Given the description of an element on the screen output the (x, y) to click on. 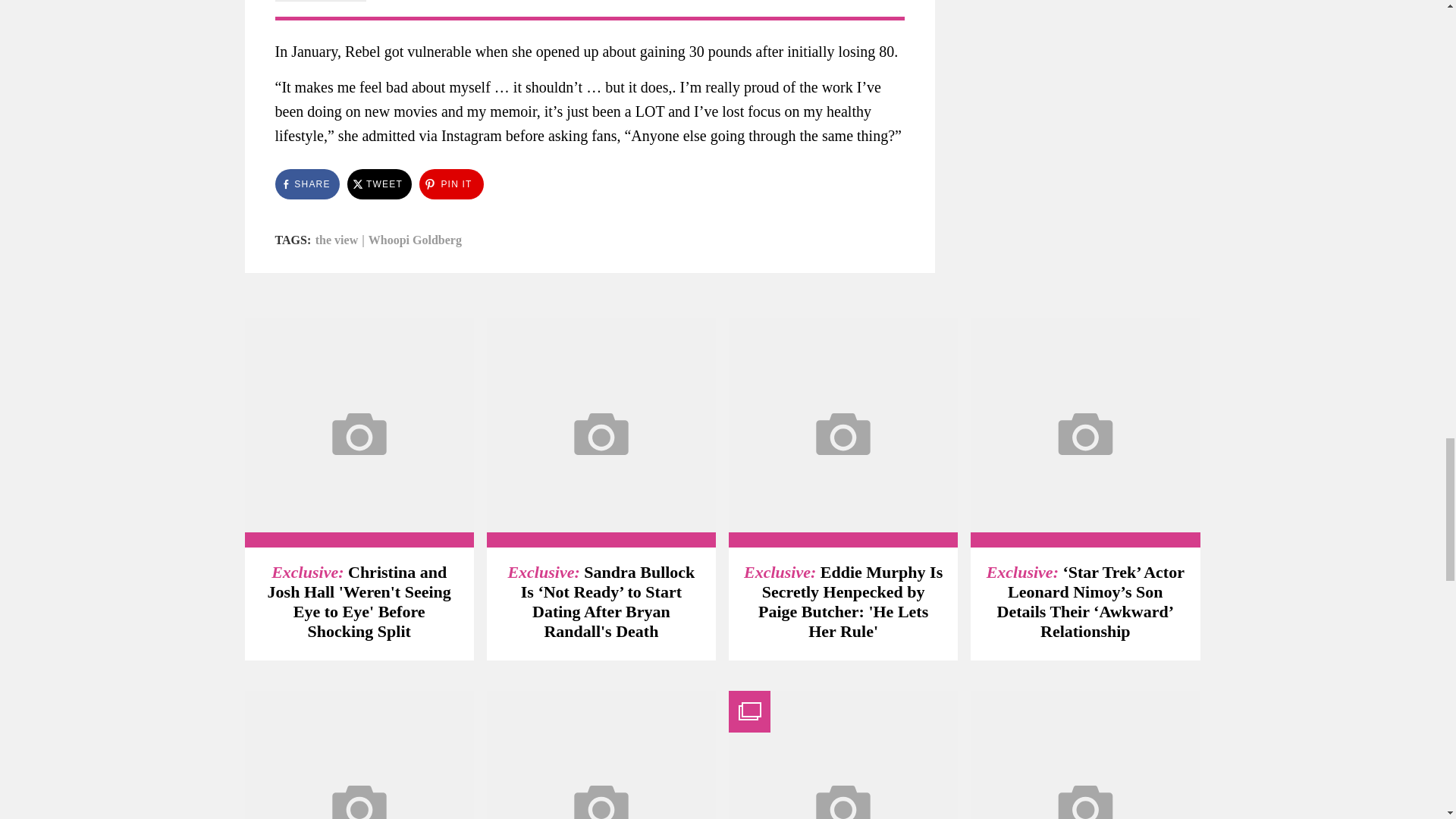
Click to share on Pinterest (451, 183)
Click to share on Twitter (379, 183)
Click to share on Facebook (307, 183)
